Given the description of an element on the screen output the (x, y) to click on. 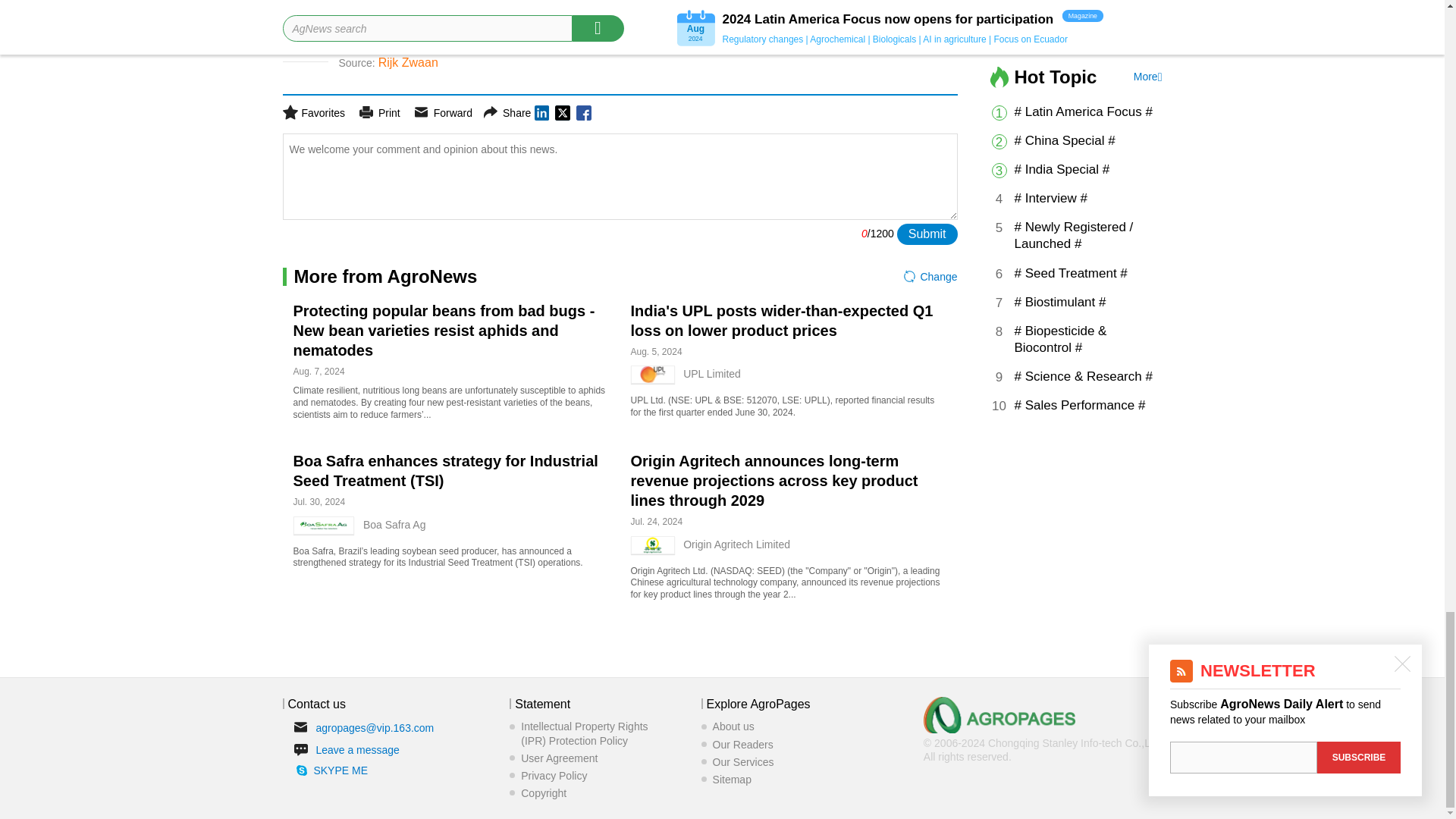
Submit (927, 233)
